Given the description of an element on the screen output the (x, y) to click on. 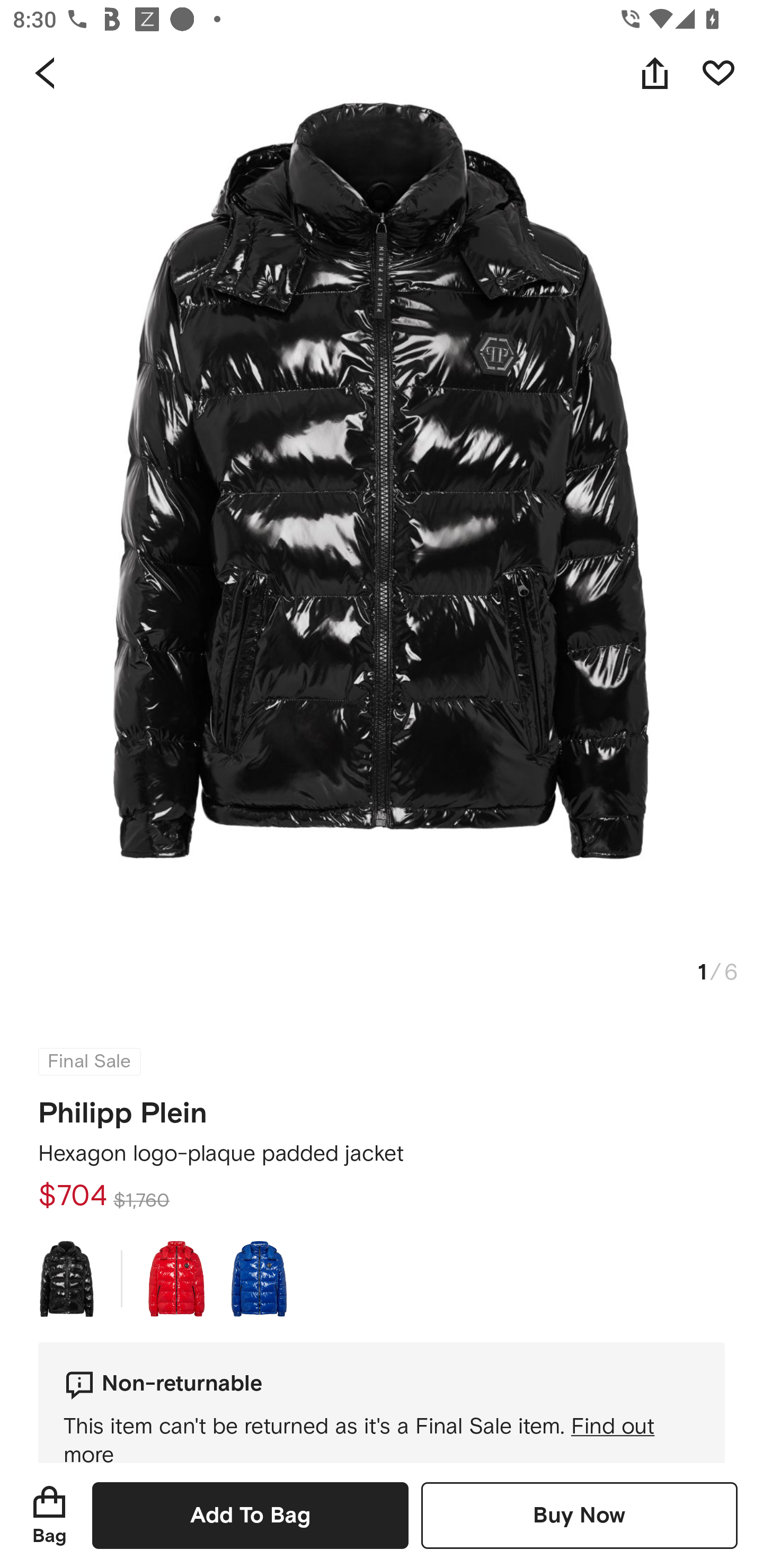
Philipp Plein (122, 1107)
Bag (49, 1515)
Add To Bag (250, 1515)
Buy Now (579, 1515)
